Given the description of an element on the screen output the (x, y) to click on. 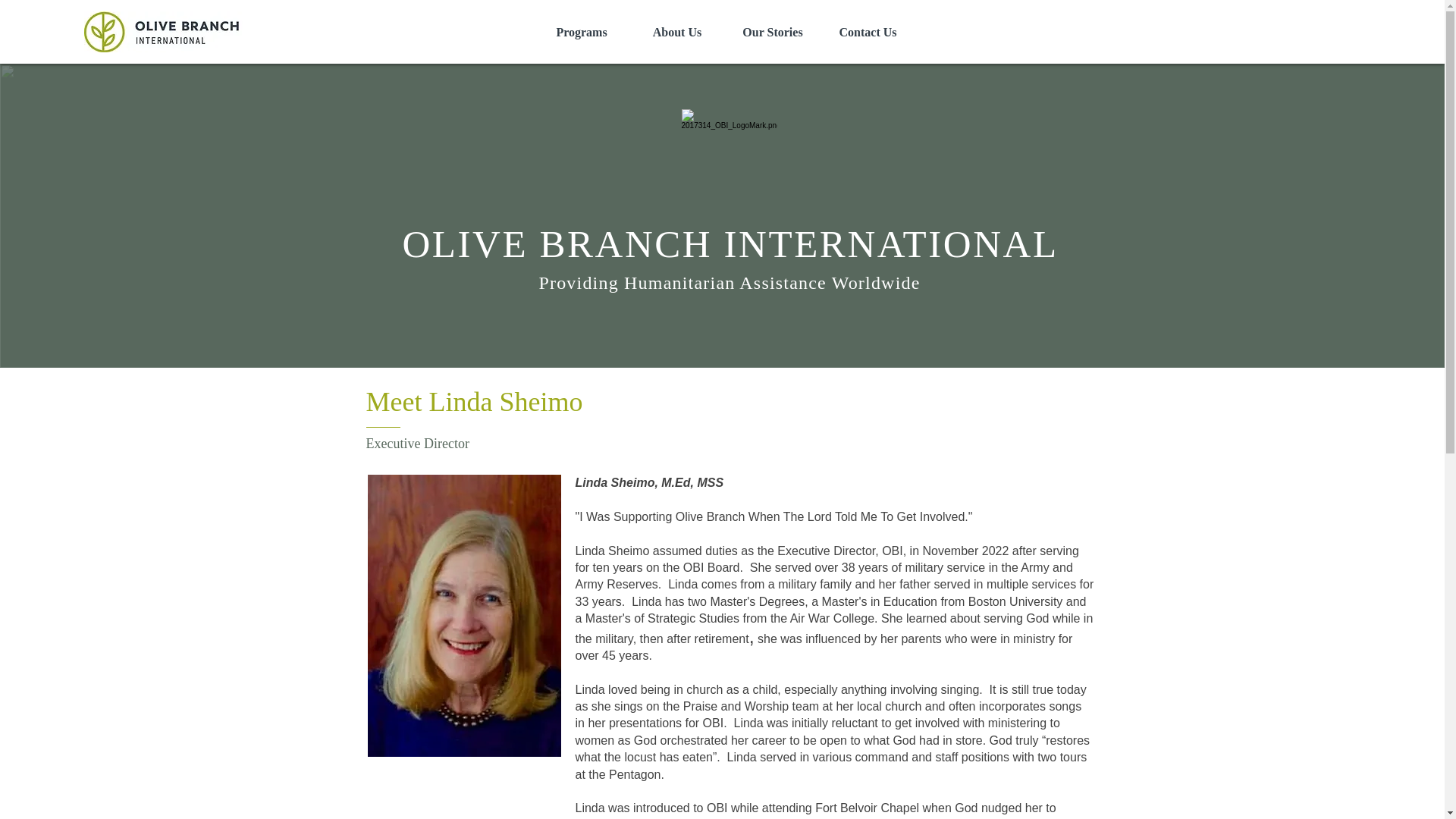
Our Stories (773, 32)
Contact Us (868, 32)
About Us (676, 32)
